Given the description of an element on the screen output the (x, y) to click on. 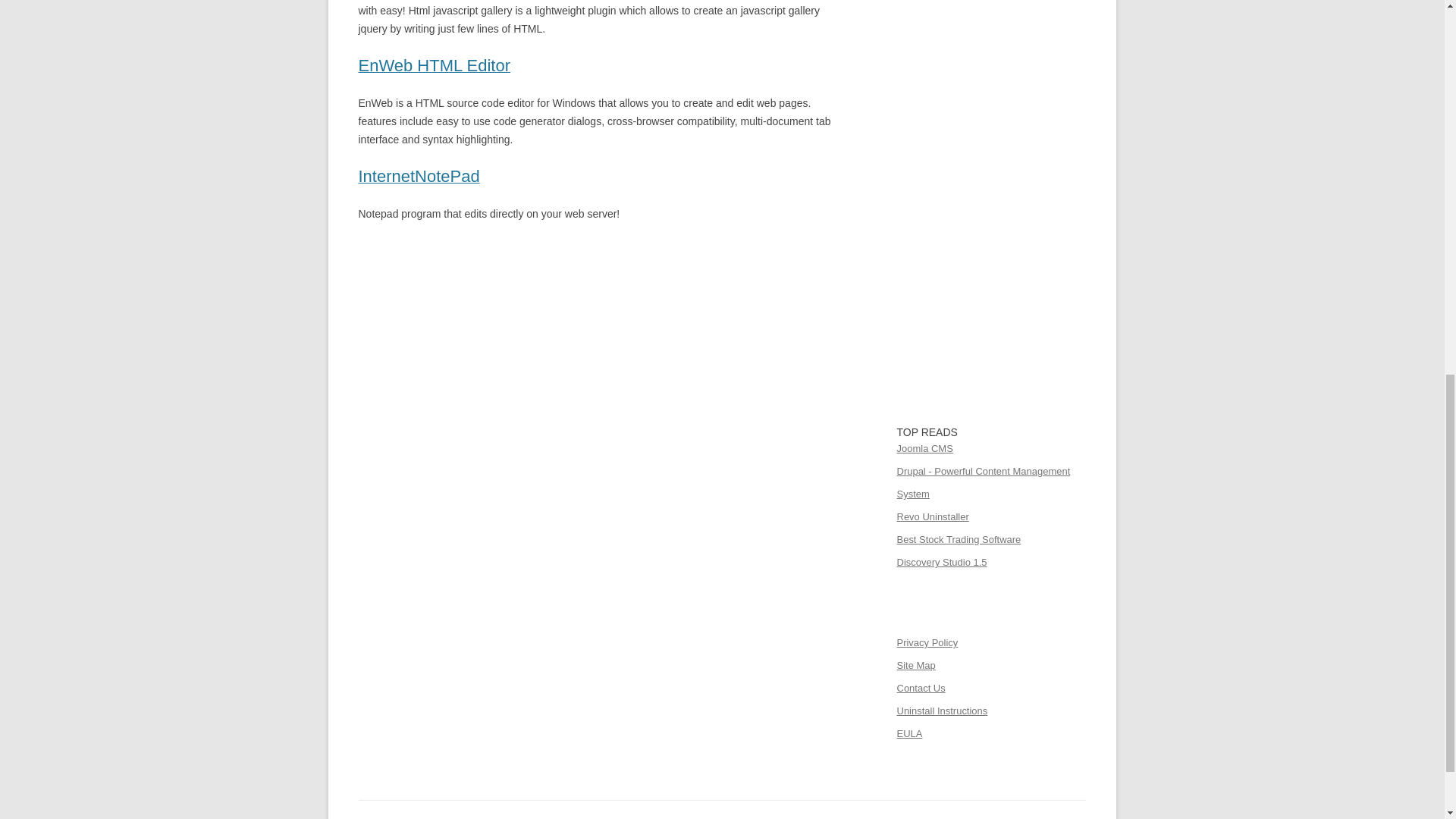
Joomla CMS (924, 448)
Best Stock Trading Software (958, 539)
Revo Uninstaller (932, 516)
Discovery Studio 1.5 (941, 562)
Drupal - Powerful Content Management System (983, 482)
InternetNotePad (418, 177)
EnWeb HTML Editor (434, 67)
